Given the description of an element on the screen output the (x, y) to click on. 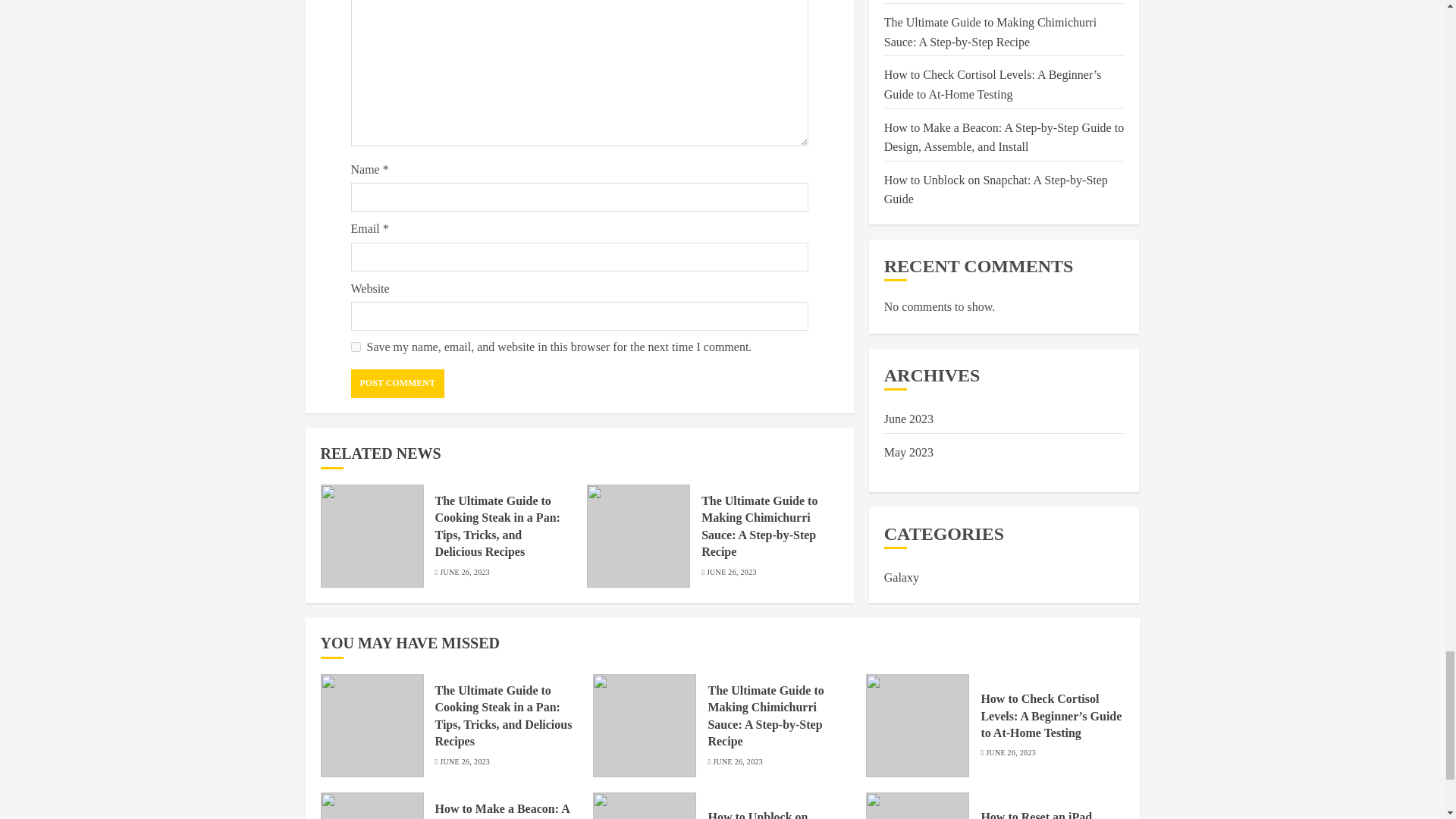
Post Comment (397, 383)
Post Comment (397, 383)
yes (354, 347)
JUNE 26, 2023 (731, 572)
JUNE 26, 2023 (464, 572)
